Given the description of an element on the screen output the (x, y) to click on. 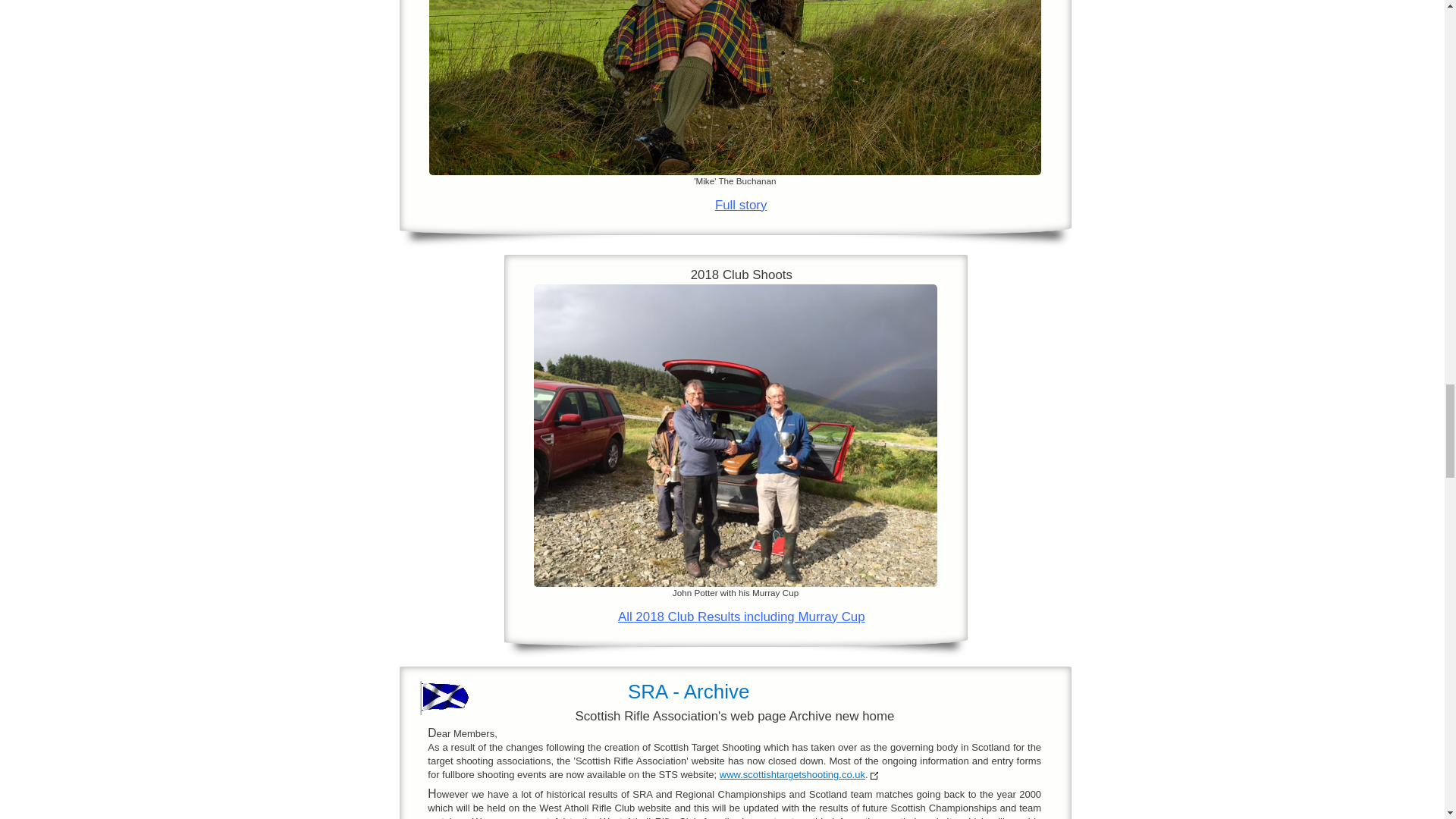
SRA - Archive (688, 691)
www.scottishtargetshooting.co.uk (791, 774)
Full story (740, 205)
All 2018 Club Results including Murray Cup (740, 616)
